Given the description of an element on the screen output the (x, y) to click on. 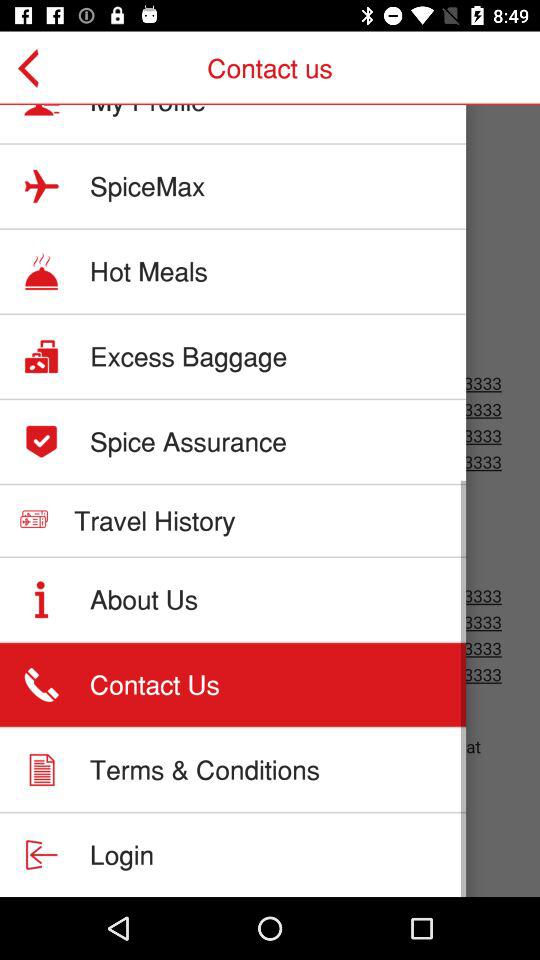
launch hot meals (148, 271)
